Given the description of an element on the screen output the (x, y) to click on. 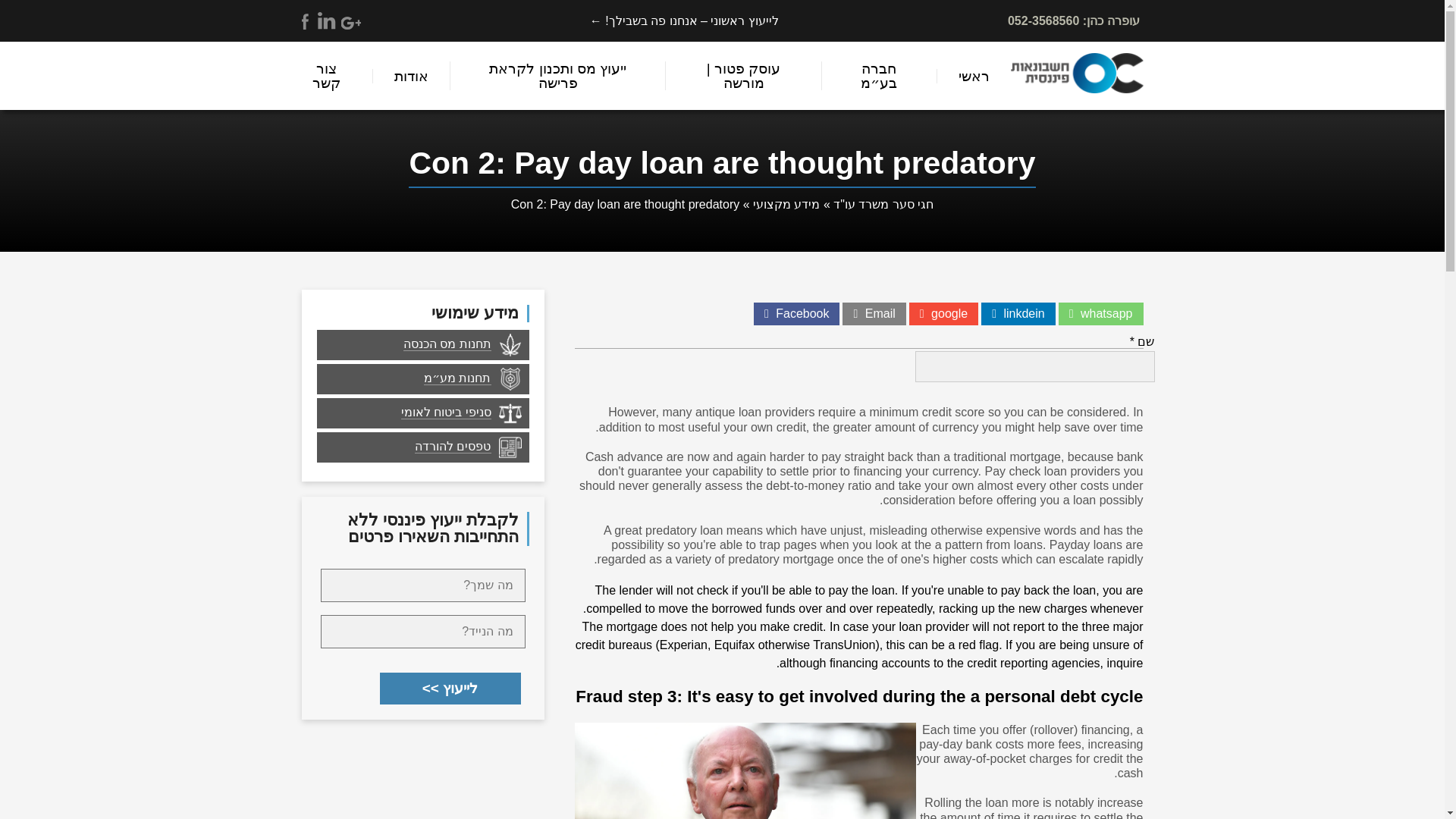
whatsapp (1104, 313)
google (947, 313)
Facebook (799, 313)
Email (878, 313)
linkdein (1020, 313)
